Given the description of an element on the screen output the (x, y) to click on. 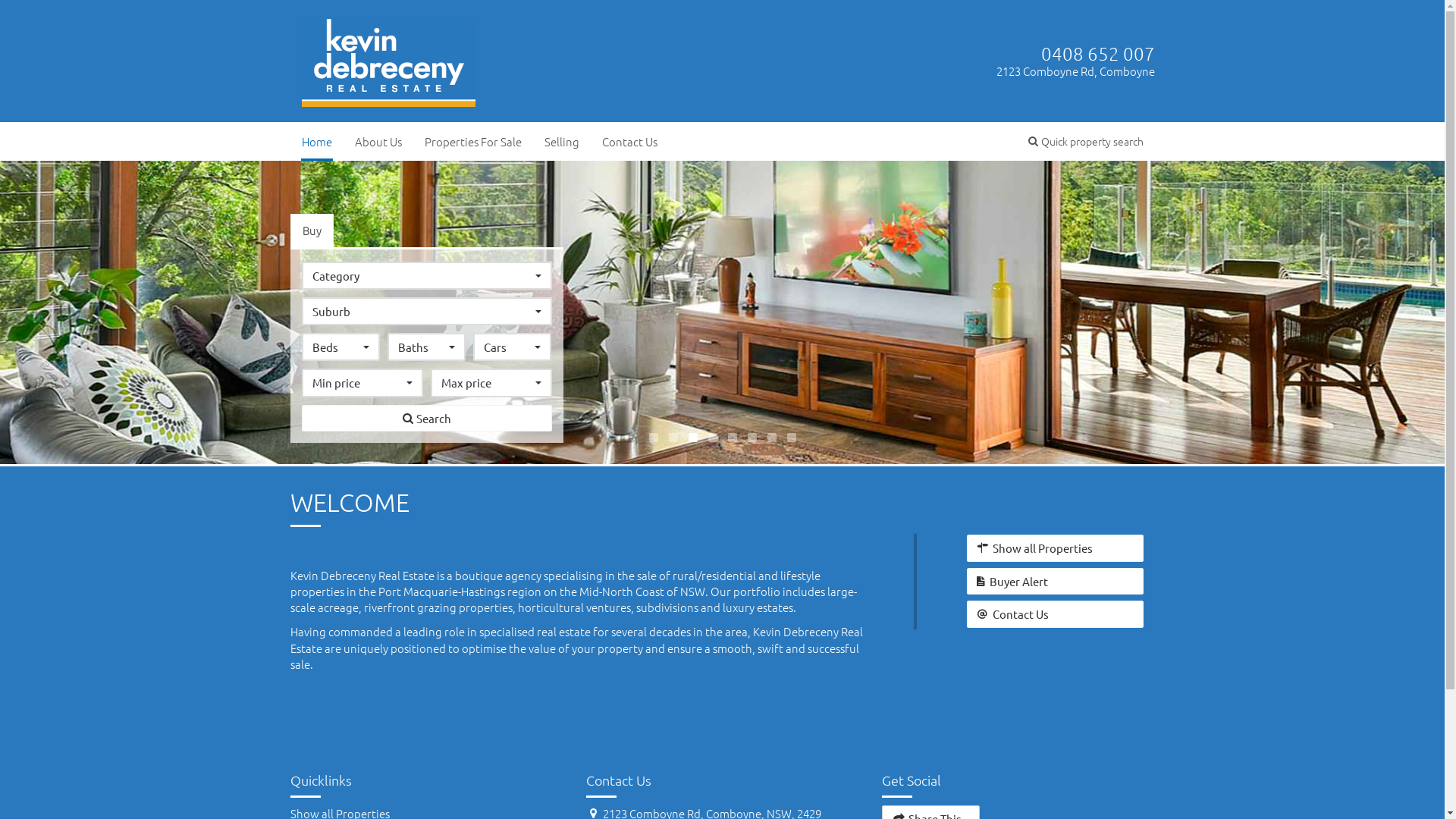
Baths
  Element type: text (426, 346)
Kevin Debreceny Real Estate Element type: hover (388, 58)
Cars
  Element type: text (512, 346)
Search Element type: text (426, 417)
Contact Us Element type: text (628, 141)
Home Element type: text (315, 141)
Quick property search Element type: text (1085, 141)
Buyer Alert Element type: text (1054, 580)
Category
  Element type: text (426, 275)
Max price
  Element type: text (491, 382)
Properties For Sale Element type: text (472, 141)
About Us Element type: text (377, 141)
Selling Element type: text (560, 141)
Show all Properties Element type: text (1054, 547)
Contact Us Element type: text (1054, 613)
Buy Element type: text (310, 229)
Suburb
  Element type: text (426, 311)
Min price
  Element type: text (362, 382)
Beds
  Element type: text (340, 346)
